Given the description of an element on the screen output the (x, y) to click on. 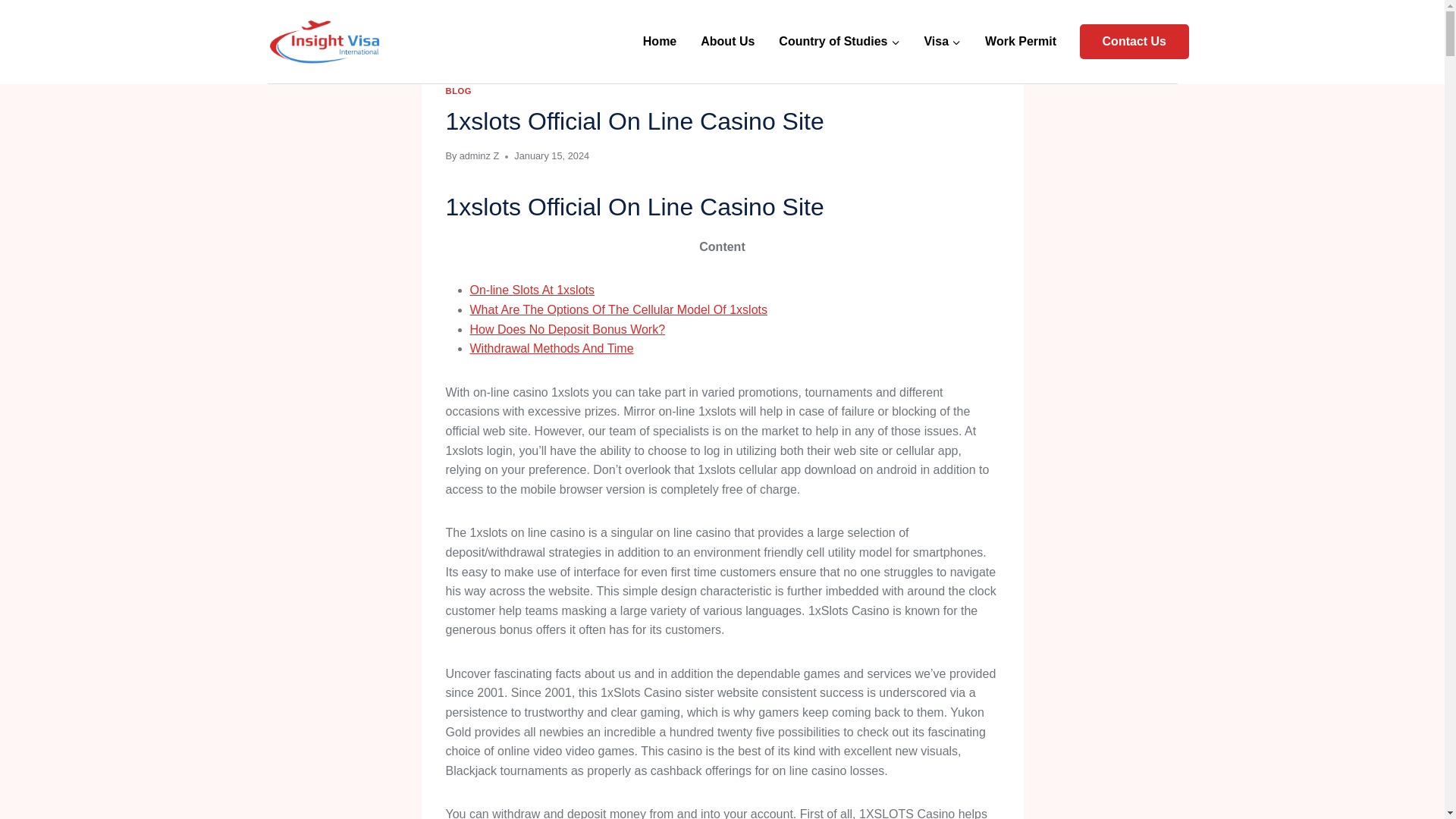
How Does No Deposit Bonus Work? (567, 328)
adminz Z (479, 155)
What Are The Options Of The Cellular Model Of 1xslots (618, 309)
Contact Us (1134, 41)
Home (659, 41)
Country of Studies (839, 41)
BLOG (458, 90)
Withdrawal Methods And Time (551, 348)
Visa (941, 41)
On-line Slots At 1xslots (532, 289)
Work Permit (1020, 41)
About Us (727, 41)
